Given the description of an element on the screen output the (x, y) to click on. 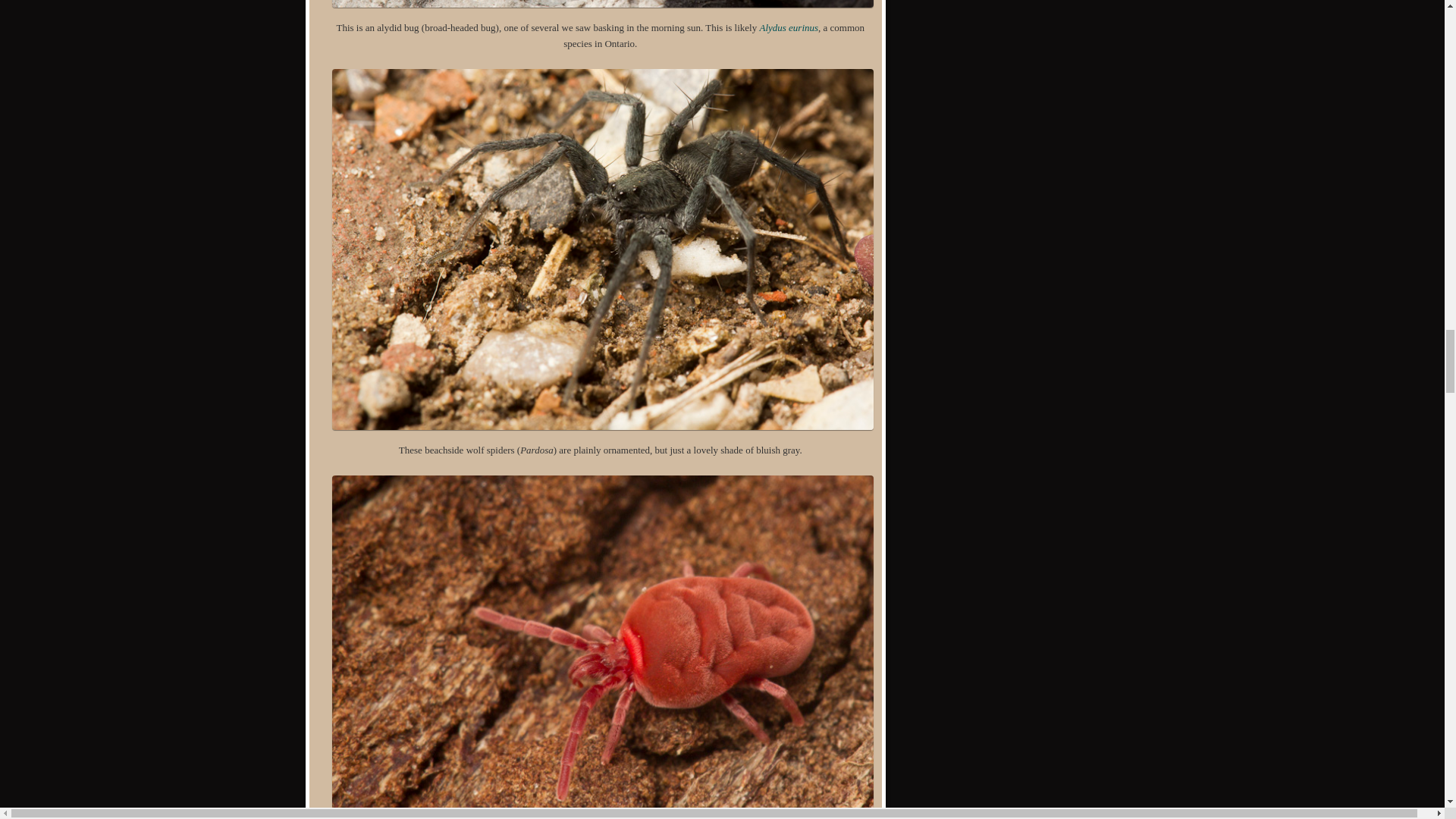
Alydus eurinus (788, 27)
